Given the description of an element on the screen output the (x, y) to click on. 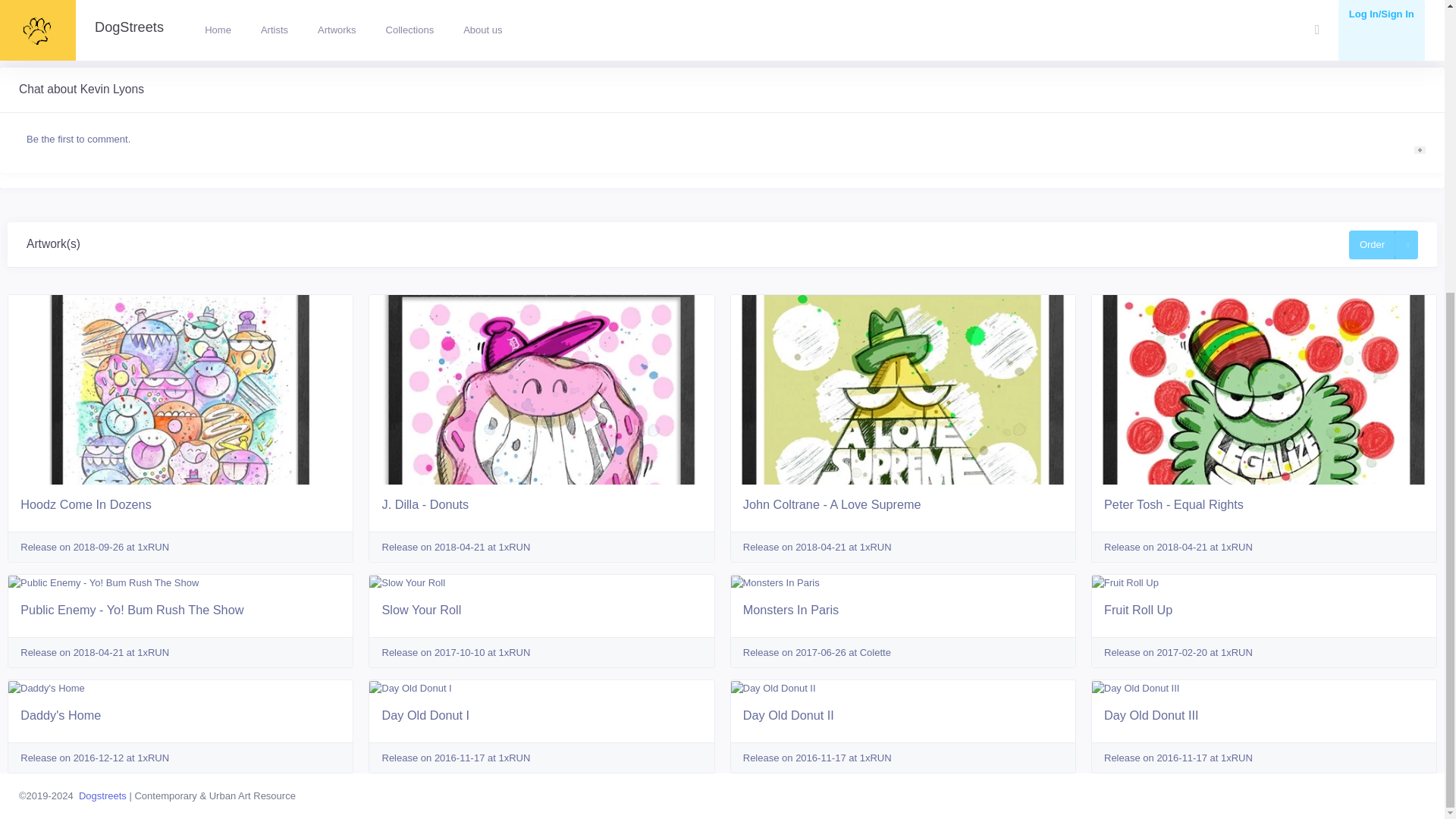
Order (1371, 244)
View (545, 20)
Dogstreets (102, 795)
